Given the description of an element on the screen output the (x, y) to click on. 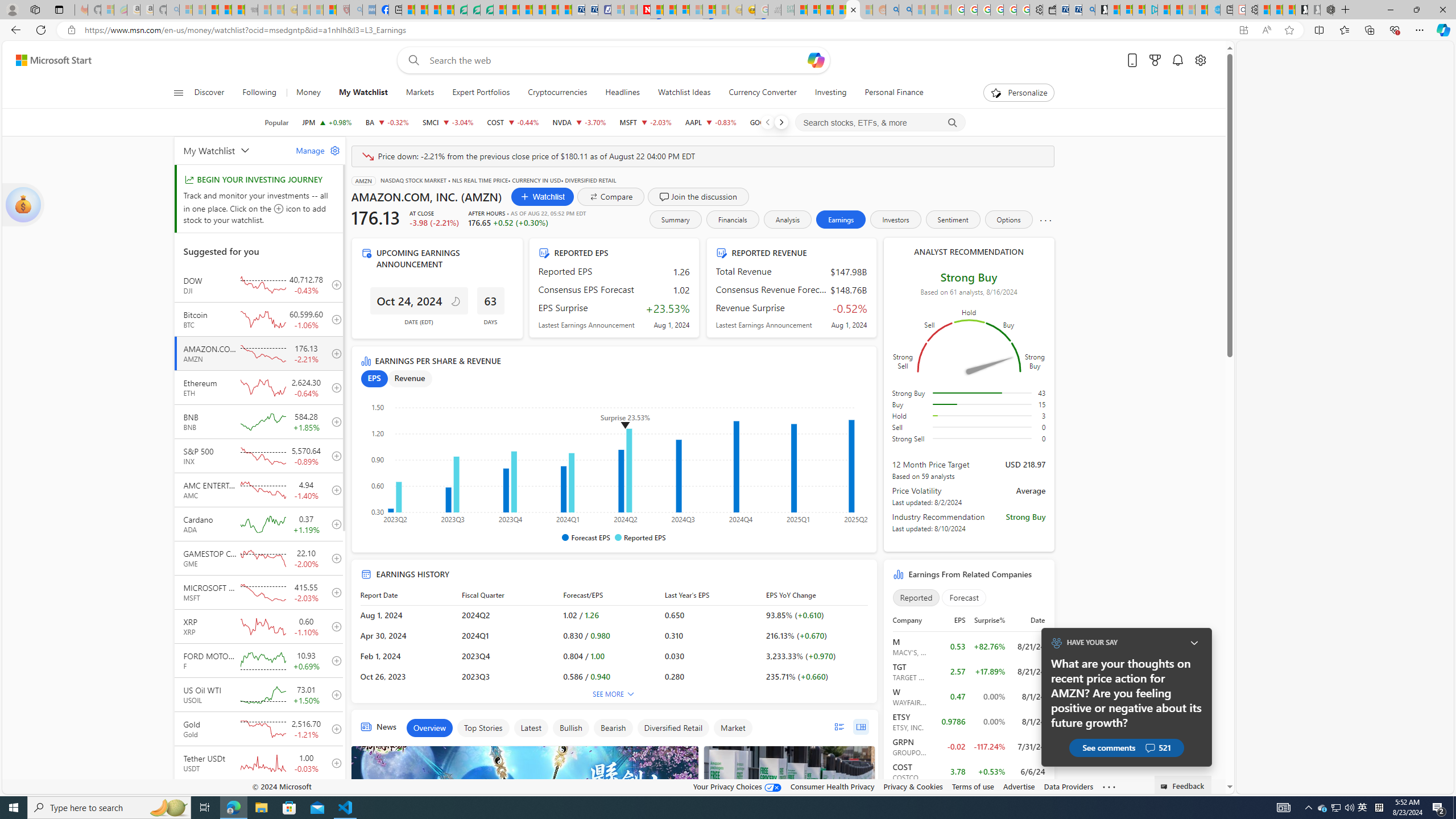
Expert Portfolios (480, 92)
Privacy & Cookies (913, 785)
AAPL APPLE INC. decrease 224.53 -1.87 -0.83% (711, 122)
Privacy & Cookies (913, 786)
Investing (830, 92)
Navy Quest (774, 9)
My Watchlist (232, 150)
SEE MORE (613, 694)
